Given the description of an element on the screen output the (x, y) to click on. 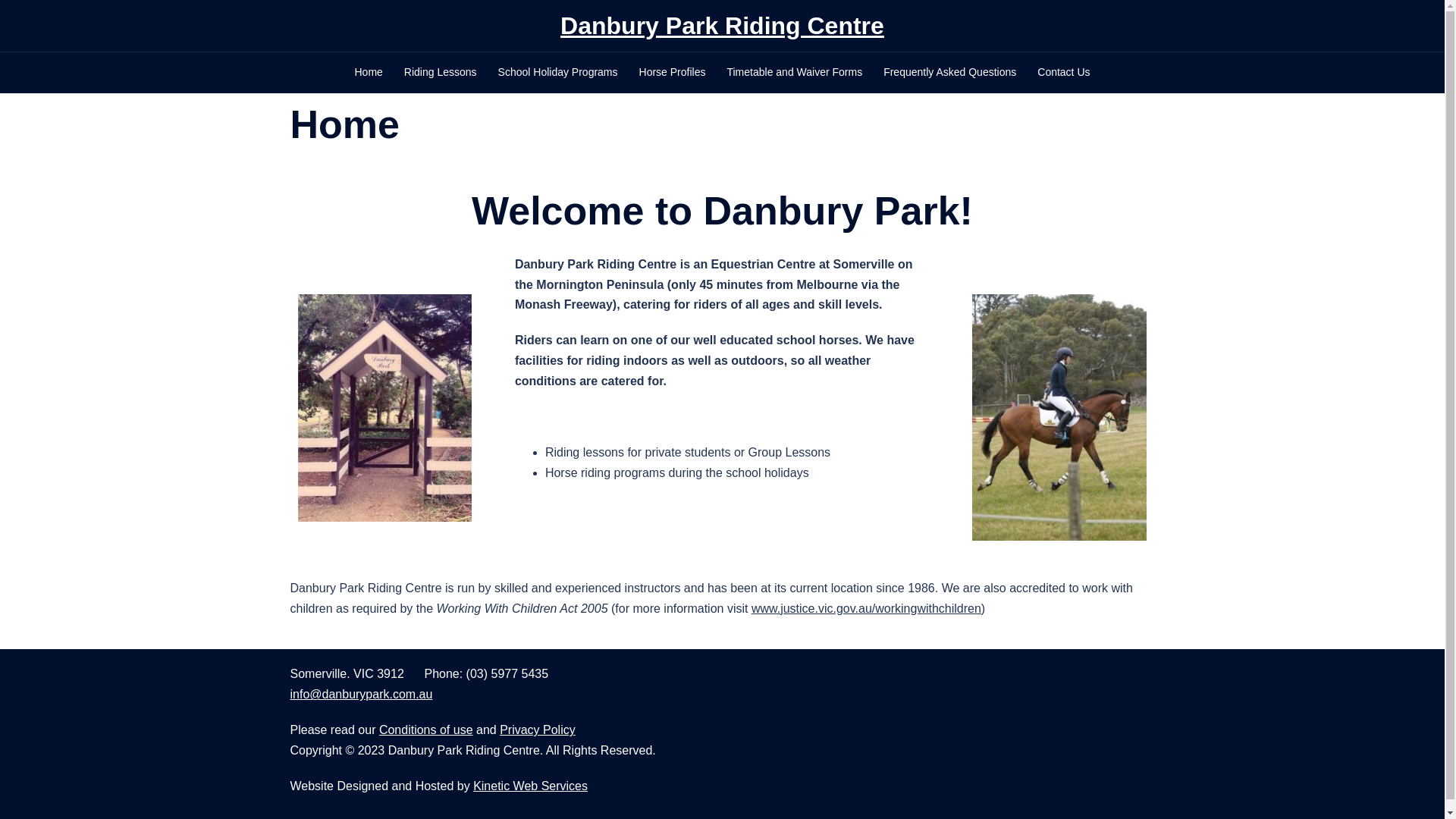
Timetable and Waiver Forms Element type: text (794, 72)
Riding Lessons Element type: text (440, 72)
info@danburypark.com.au Element type: text (360, 693)
Contact Us Element type: text (1063, 72)
Horse Profiles Element type: text (672, 72)
Frequently Asked Questions Element type: text (949, 72)
Conditions of use Element type: text (426, 729)
Danbury Park Riding Centre Element type: text (722, 25)
Privacy Policy Element type: text (537, 729)
www.justice.vic.gov.au/workingwithchildren Element type: text (866, 608)
Kinetic Web Services Element type: text (530, 785)
School Holiday Programs Element type: text (558, 72)
Home Element type: text (368, 72)
